Given the description of an element on the screen output the (x, y) to click on. 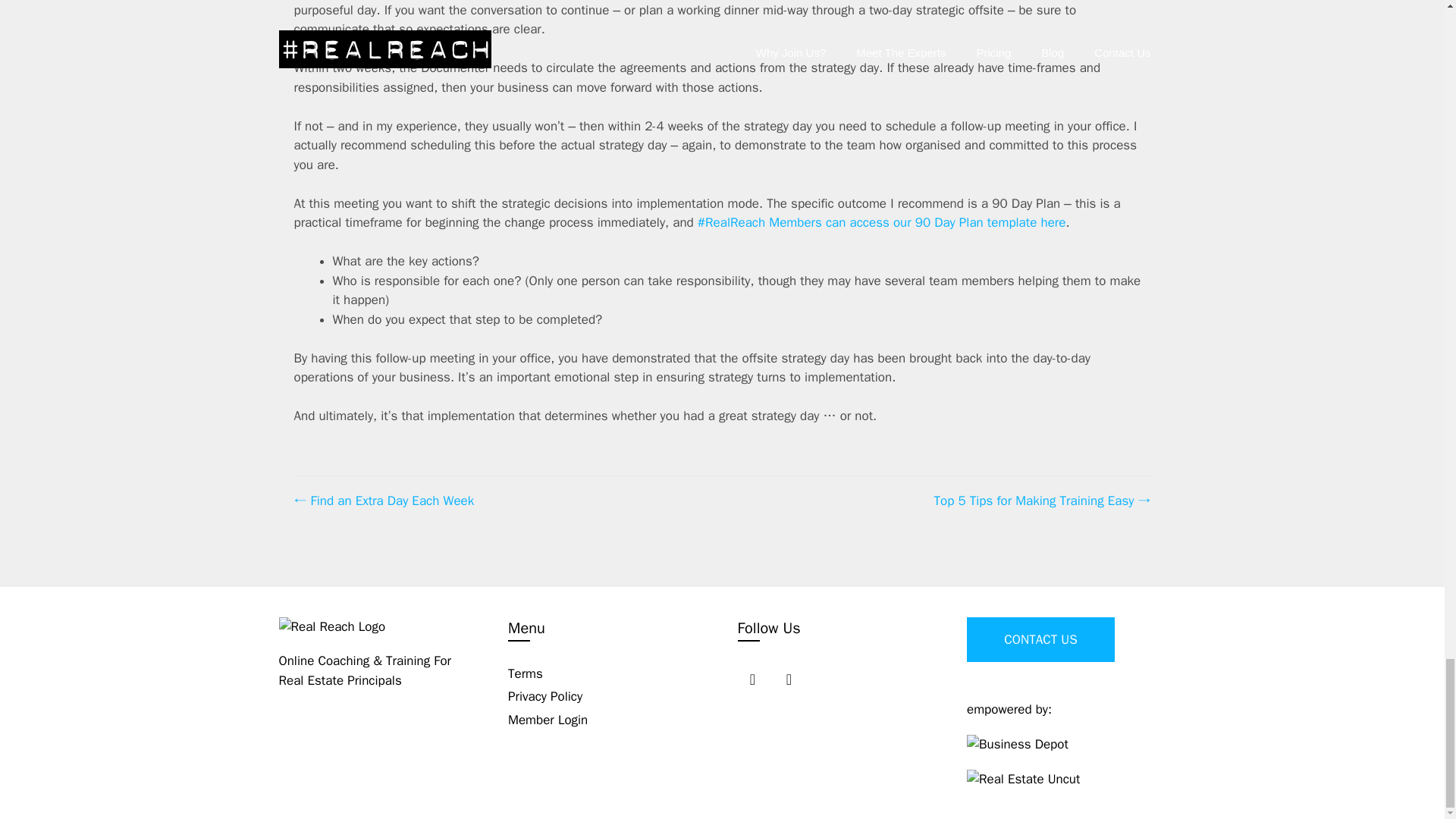
Member Login (548, 719)
LinkedIn (788, 679)
Terms (525, 673)
Facebook (751, 679)
CONTACT US (1040, 639)
Privacy Policy (545, 696)
